Given the description of an element on the screen output the (x, y) to click on. 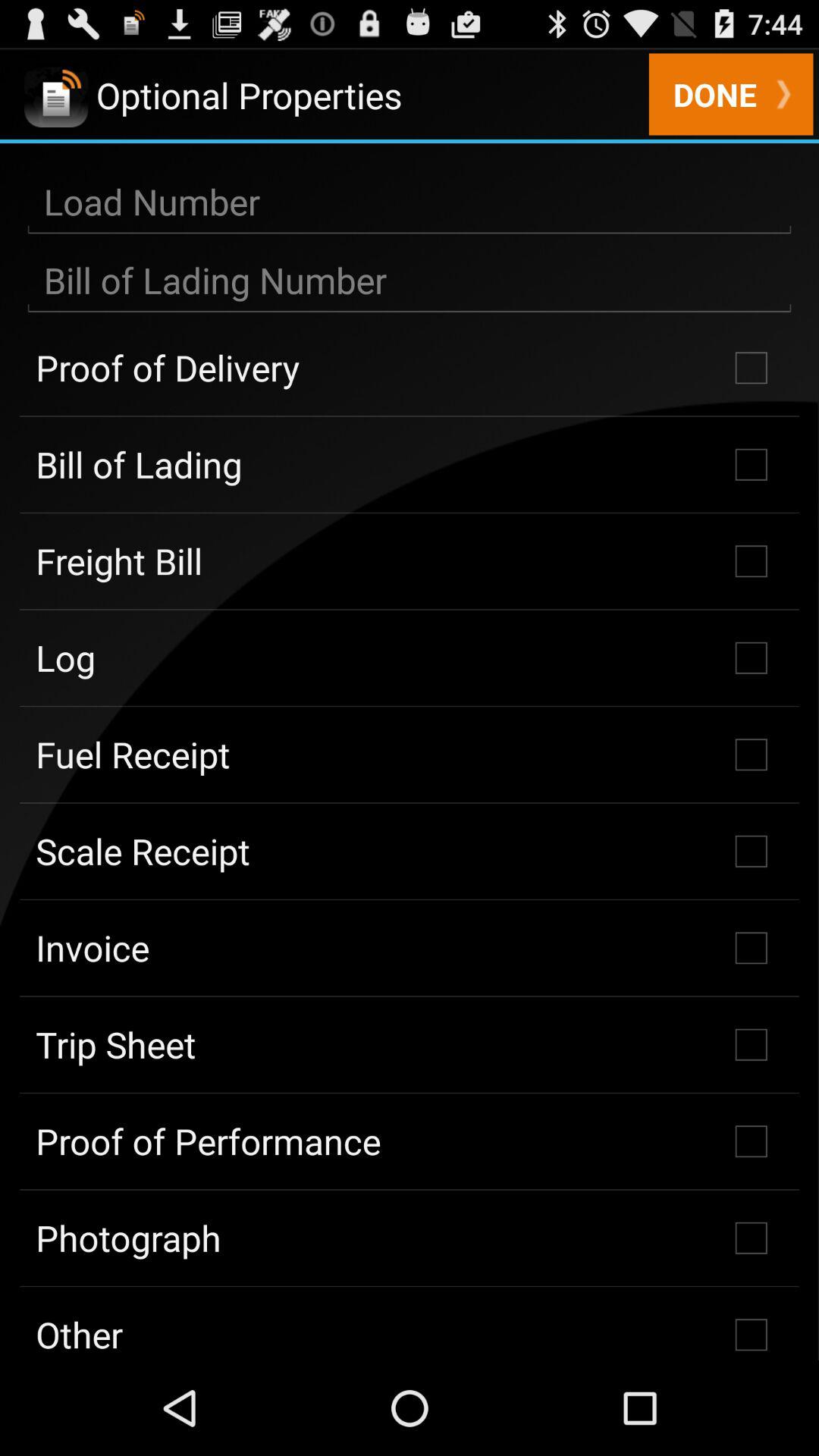
optional properties menu (409, 280)
